Given the description of an element on the screen output the (x, y) to click on. 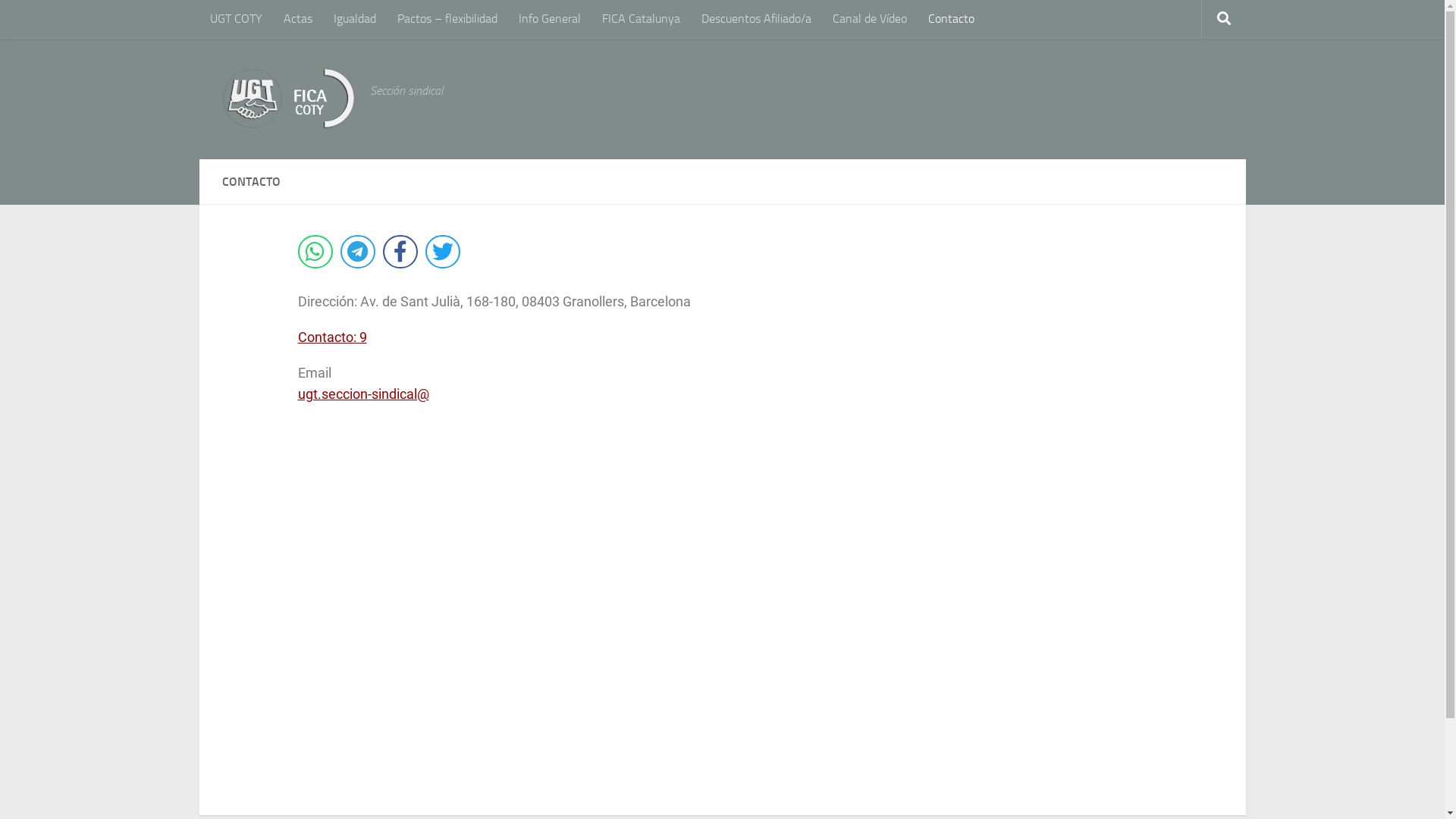
Info General Element type: text (549, 18)
Contacto: 9 Element type: text (331, 337)
Descuentos Afiliado/a Element type: text (755, 18)
Contacto Element type: text (951, 18)
Saltar al contenido Element type: text (69, 21)
Igualdad Element type: text (354, 18)
ugt.seccion-sindical@ Element type: text (362, 393)
UGT  FICA  COTY | Inicio Element type: hover (287, 98)
FICA Catalunya Element type: text (640, 18)
Actas Element type: text (298, 18)
UGT COTY Element type: text (235, 18)
